Given the description of an element on the screen output the (x, y) to click on. 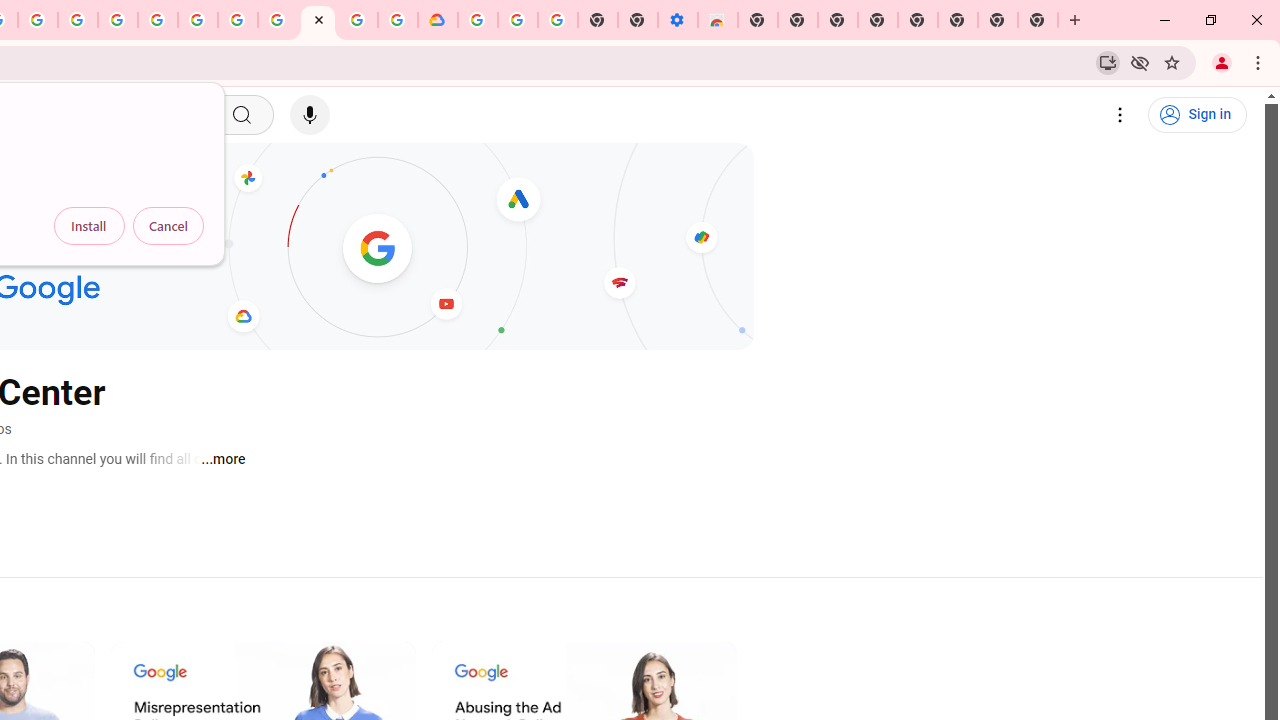
Google Account Help (517, 20)
Cancel (168, 225)
